Given the description of an element on the screen output the (x, y) to click on. 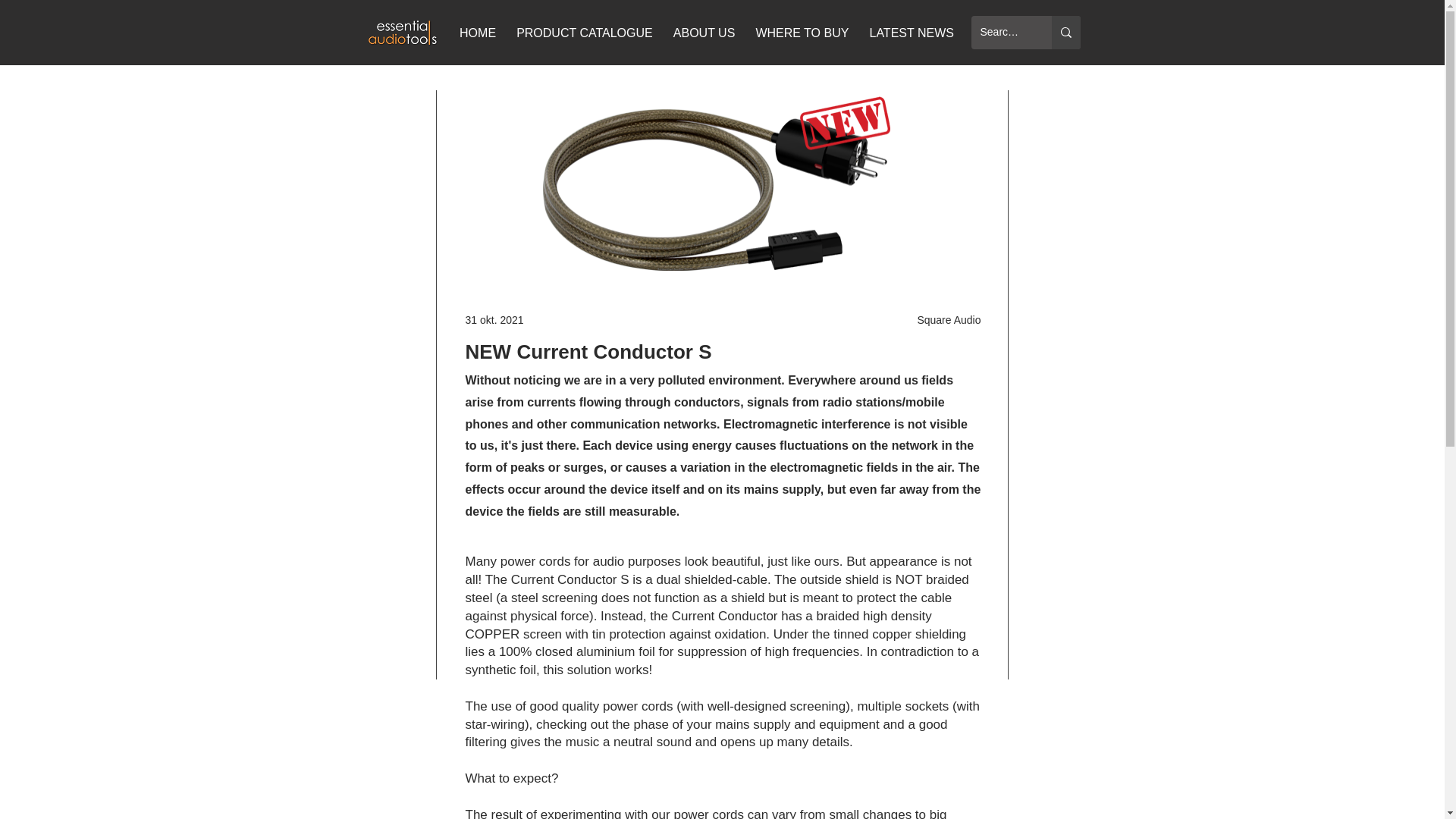
ABOUT US (703, 33)
HOME (477, 33)
PRODUCT CATALOGUE (584, 33)
WHERE TO BUY (802, 33)
LATEST NEWS (911, 33)
